Given the description of an element on the screen output the (x, y) to click on. 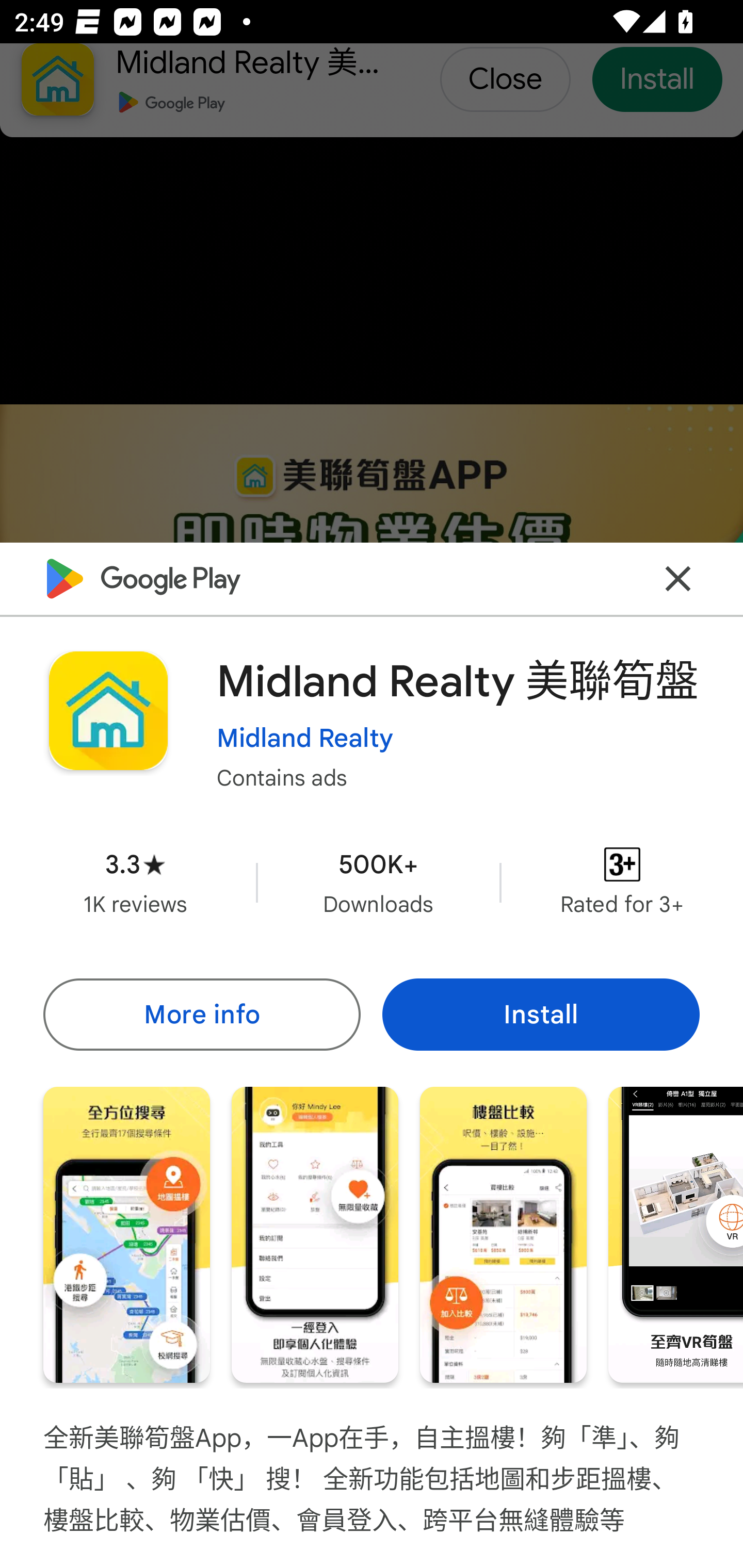
Close (677, 578)
Image of app or game icon for Midland Realty 美聯筍盤 (108, 711)
Midland Realty (304, 737)
More info (201, 1014)
Install (540, 1014)
Screenshot "1" of "7" (126, 1234)
Screenshot "2" of "7" (314, 1234)
Screenshot "3" of "7" (502, 1234)
Screenshot "4" of "7" (675, 1234)
